Given the description of an element on the screen output the (x, y) to click on. 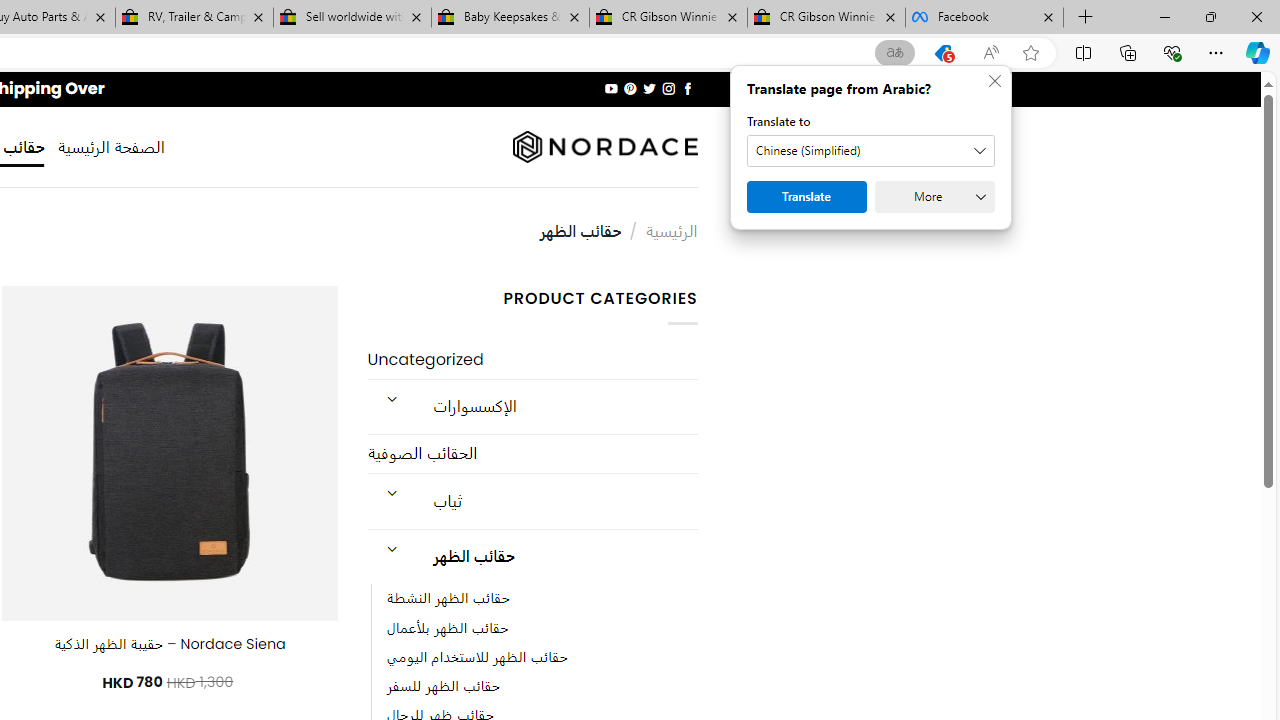
RV, Trailer & Camper Steps & Ladders for sale | eBay (194, 17)
Translate to (870, 151)
